Given the description of an element on the screen output the (x, y) to click on. 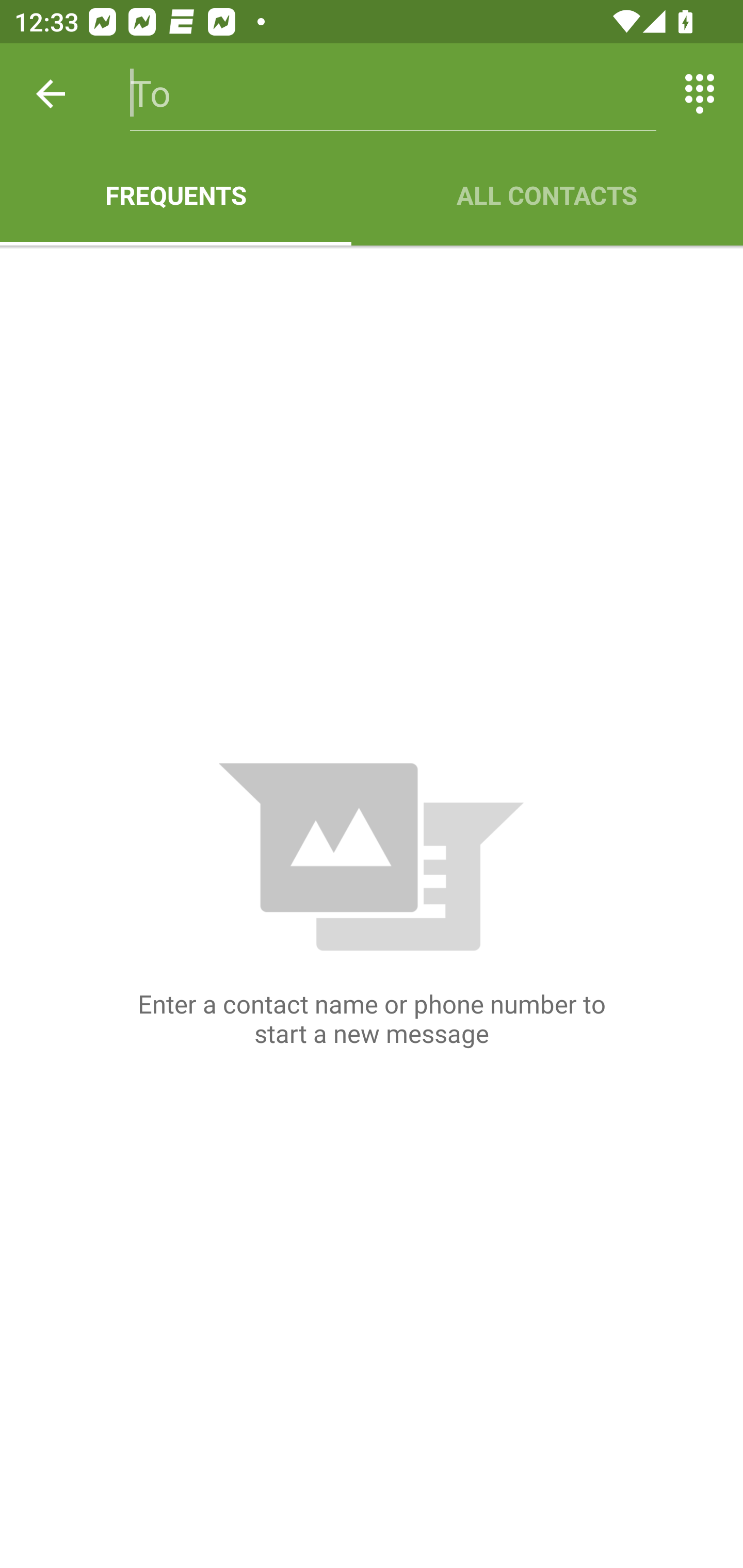
Back (50, 93)
Switch between entering text and numbers (699, 93)
To (393, 93)
FREQUENTS (175, 195)
ALL CONTACTS (547, 195)
